Given the description of an element on the screen output the (x, y) to click on. 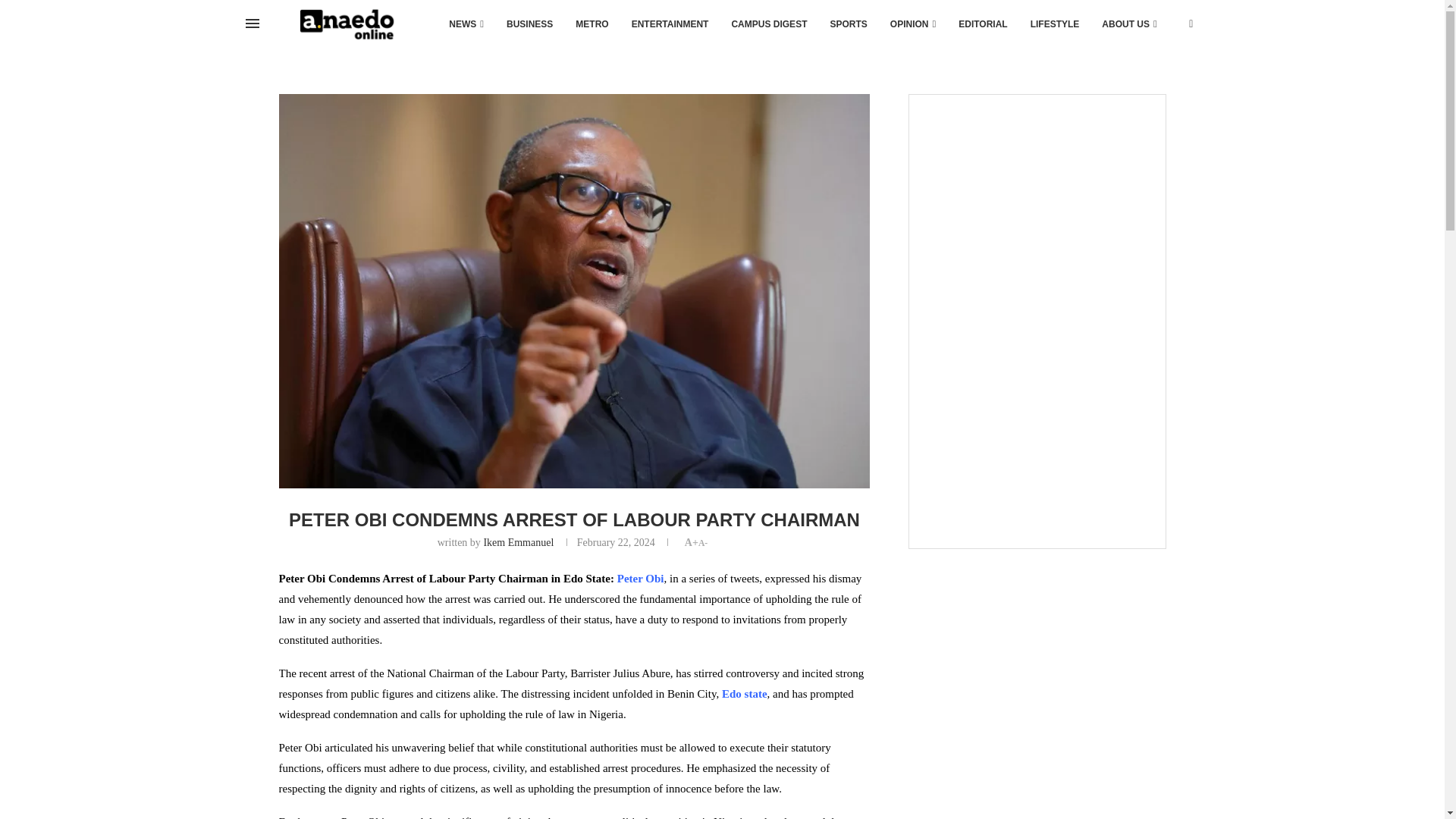
ENTERTAINMENT (670, 23)
BUSINESS (529, 23)
ABOUT US (1128, 23)
SPORTS (847, 23)
LIFESTYLE (1054, 23)
CAMPUS DIGEST (768, 23)
NEWS (466, 23)
OPINION (913, 23)
EDITORIAL (982, 23)
